Given the description of an element on the screen output the (x, y) to click on. 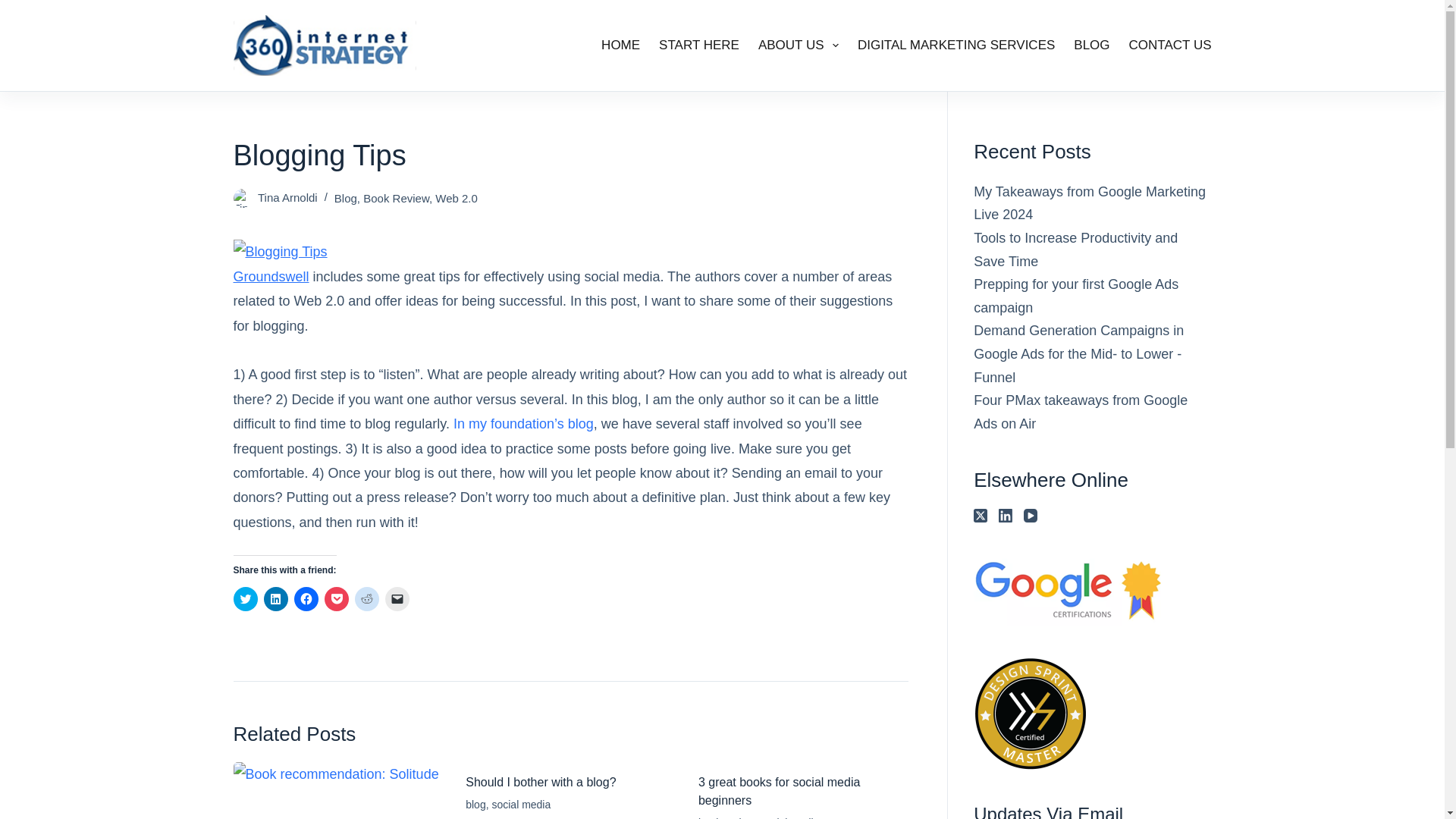
Click to share on Reddit (366, 598)
Blogging Tips (324, 45)
Blogging Tips (1068, 589)
Book recommendation: Solitude (338, 790)
Blogging Tips (1030, 713)
START HERE (699, 45)
Click to email a link to a friend (397, 598)
Skip to content (15, 7)
Click to share on Facebook (306, 598)
Click to share on Twitter (244, 598)
